Given the description of an element on the screen output the (x, y) to click on. 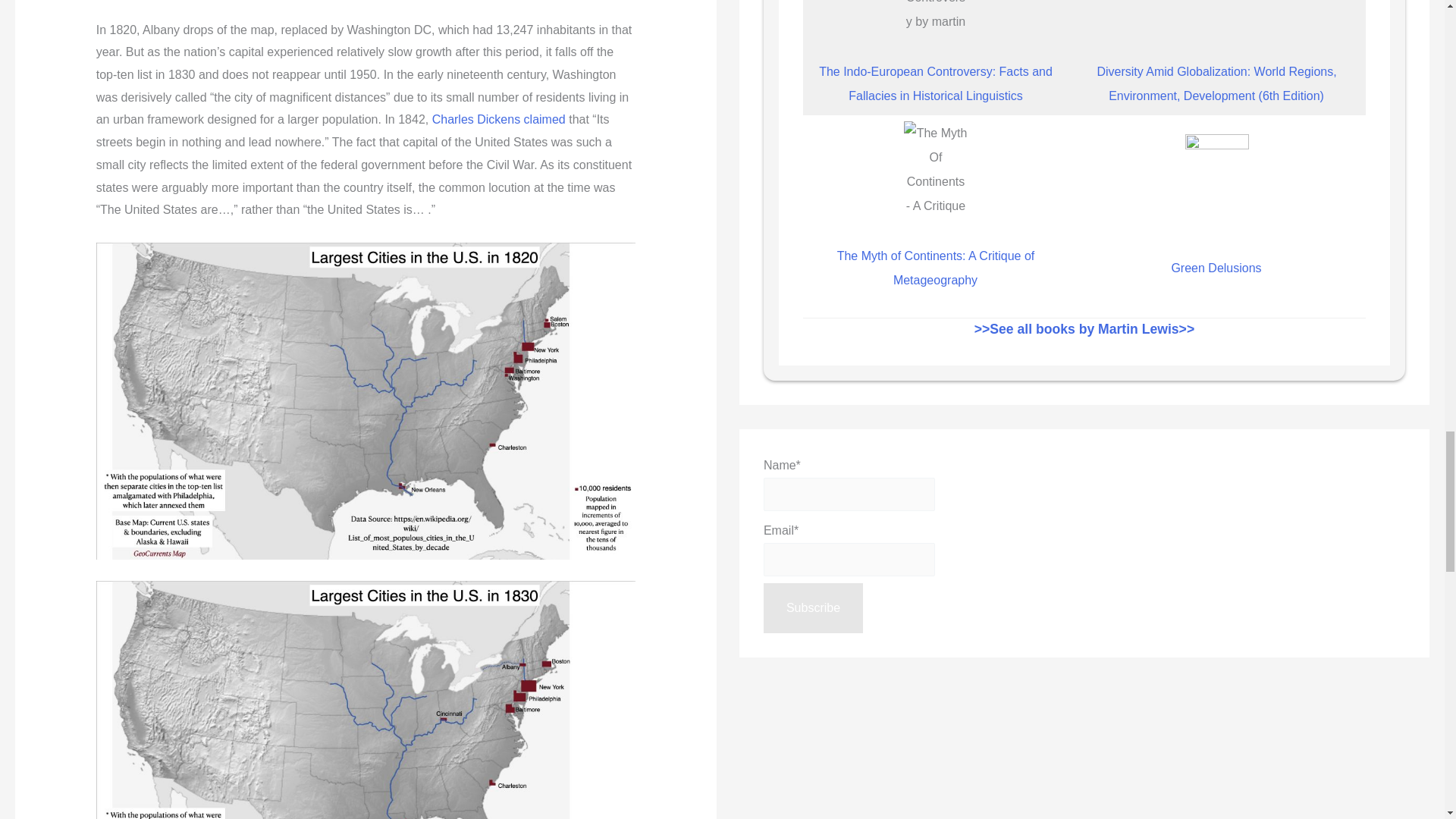
diversity amid globalization martin lewis (1216, 18)
green delusions by martin lewis (1217, 182)
Indo-European-Controversy by Asya Pereltsvaig Martin Lewis (935, 18)
Subscribe (812, 608)
